Given the description of an element on the screen output the (x, y) to click on. 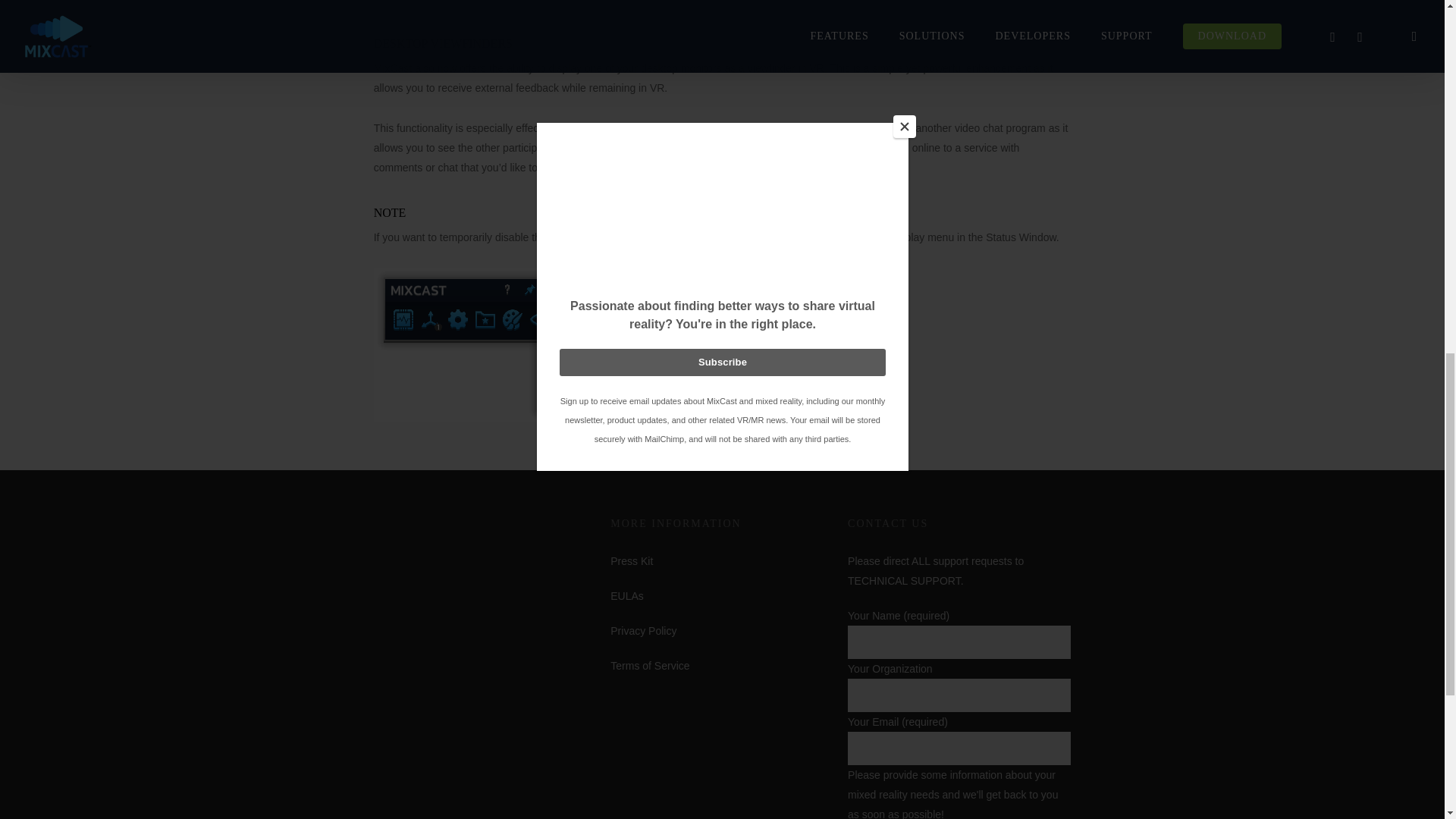
Press Kit (631, 561)
Privacy Policy (643, 630)
Terms of Service (649, 665)
EULAs (626, 595)
TECHNICAL SUPPORT (903, 580)
